Given the description of an element on the screen output the (x, y) to click on. 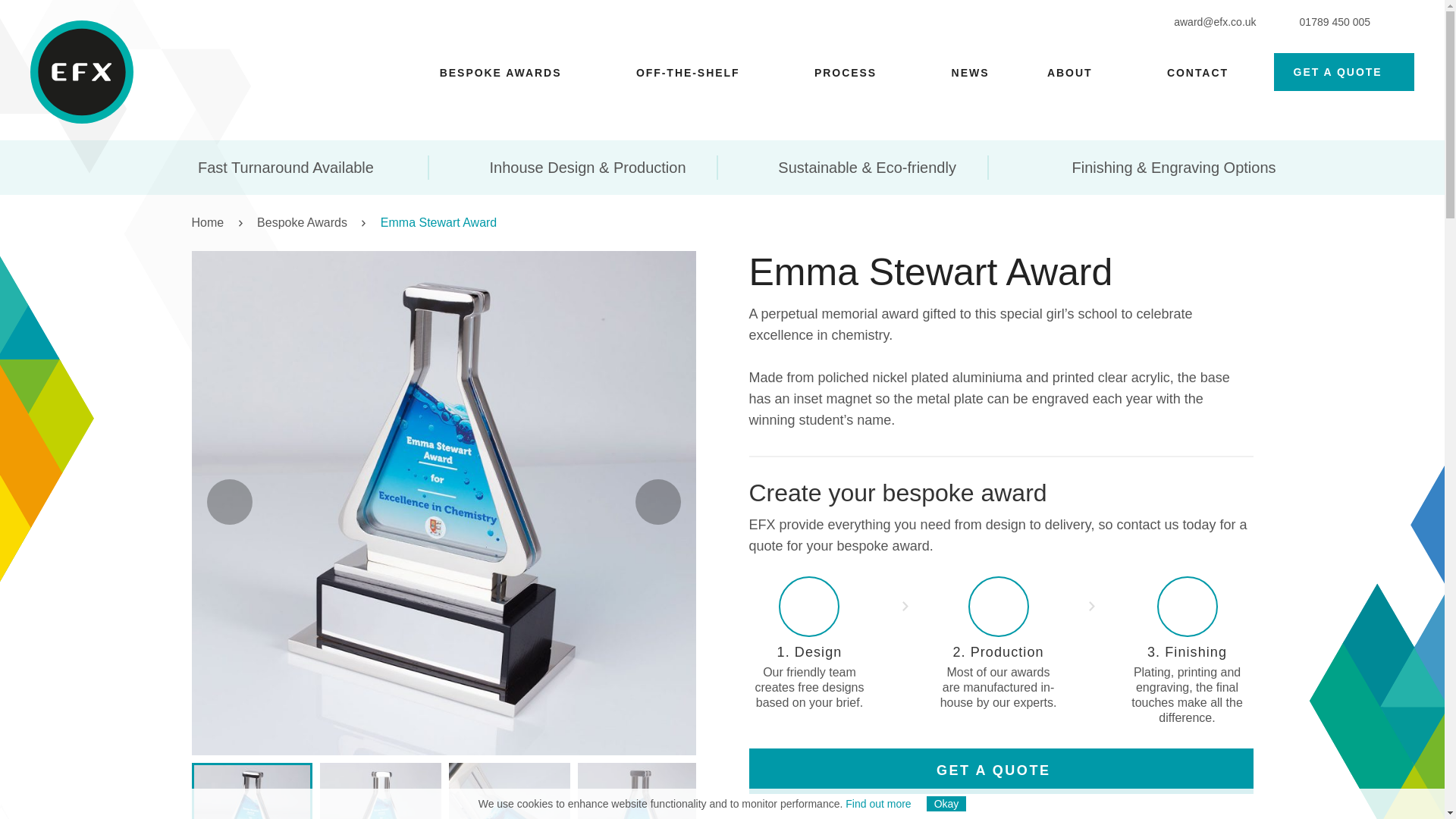
01789 450 005 (1328, 21)
NEWS (971, 72)
PROCESS (844, 72)
GET A QUOTE (1343, 71)
OFF-THE-SHELF (687, 72)
ABOUT (1069, 72)
Bespoke Awards (311, 223)
Home (216, 223)
BESPOKE AWARDS (500, 72)
CONTACT (1197, 72)
